Given the description of an element on the screen output the (x, y) to click on. 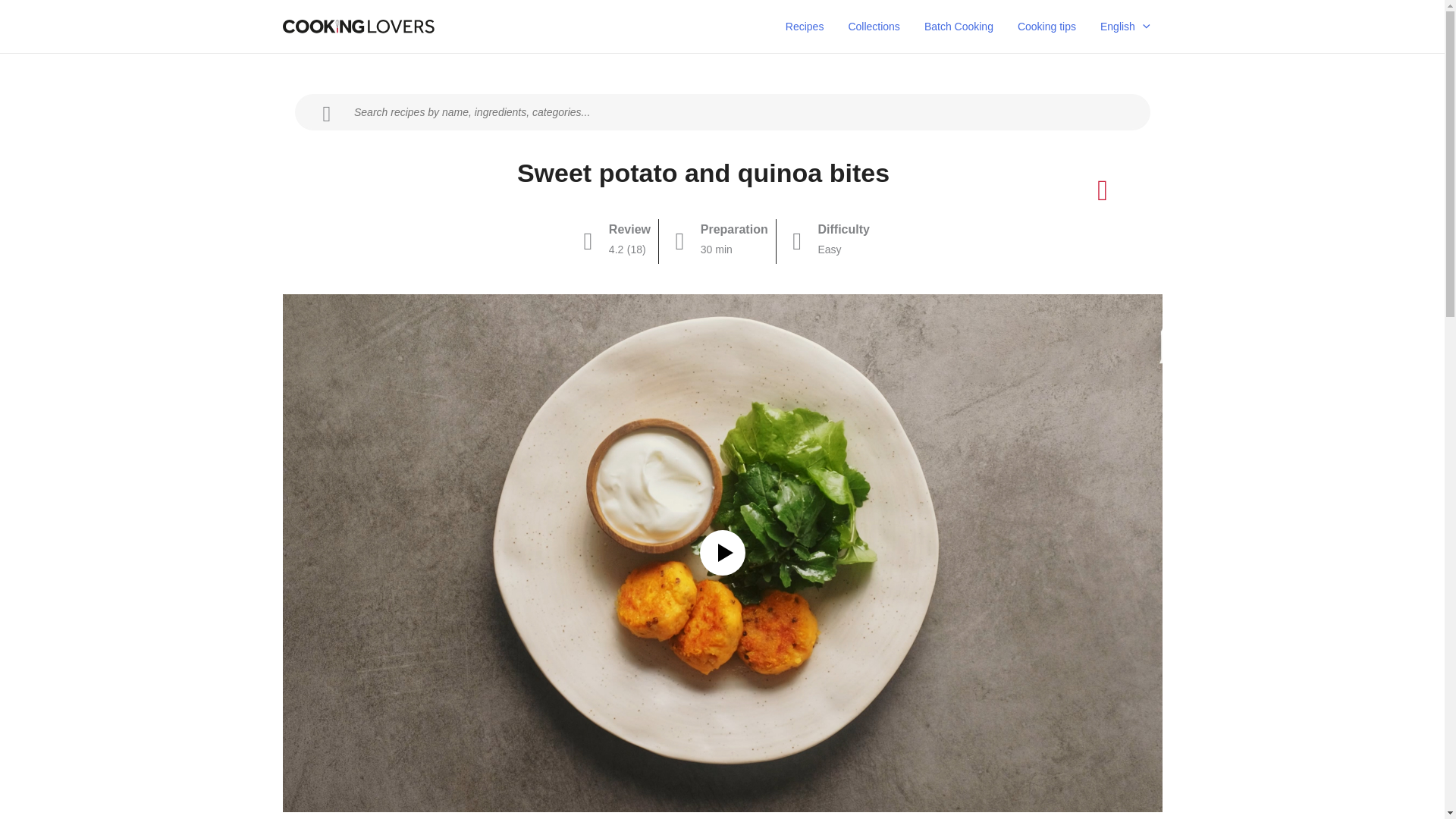
Recipes (804, 26)
English (1124, 26)
Collections (873, 26)
English (1124, 26)
Cooking tips (1046, 26)
Batch Cooking (959, 26)
